Given the description of an element on the screen output the (x, y) to click on. 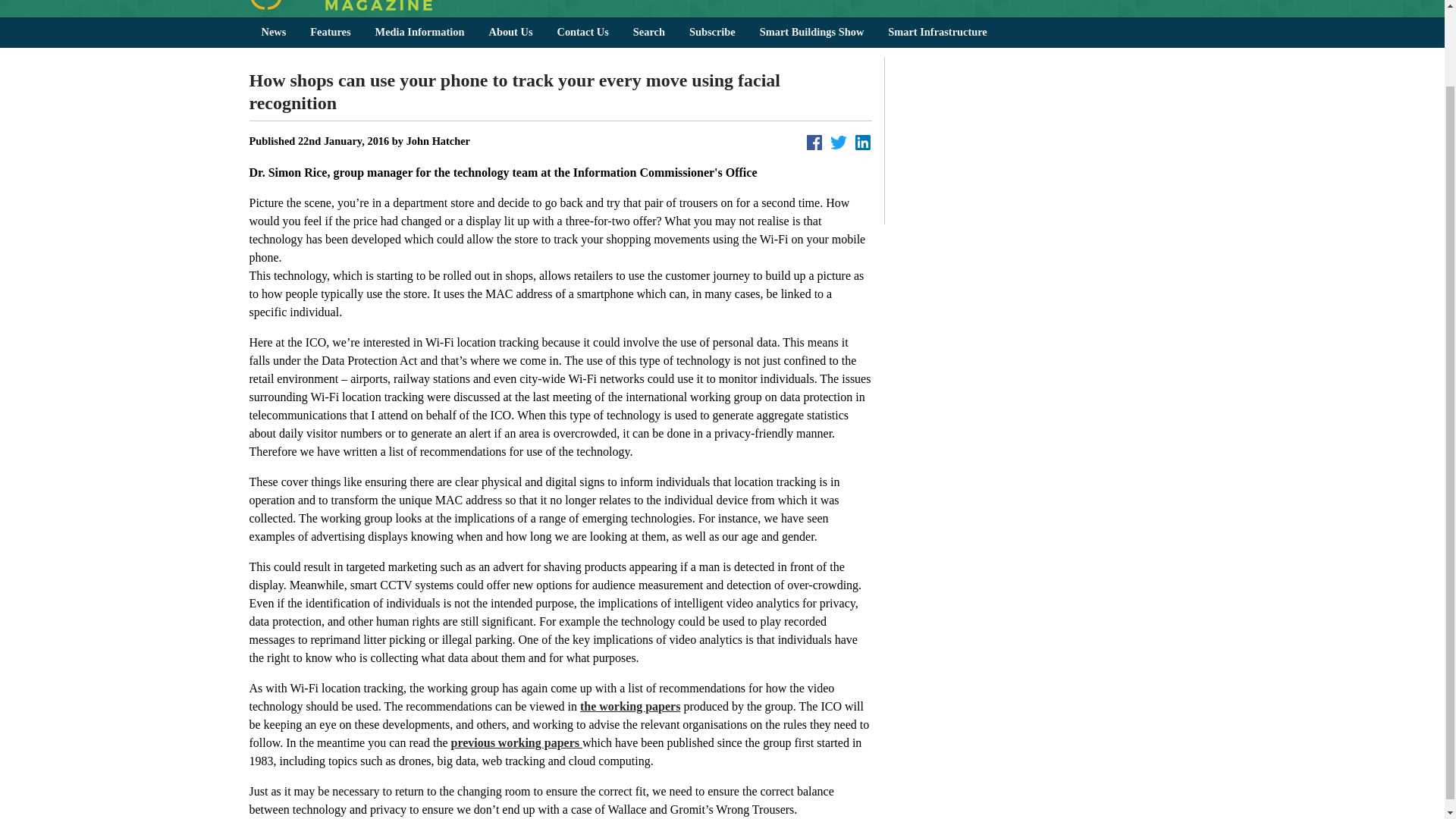
Share on LinkedIn (862, 141)
Subscribe (712, 32)
Smart Buildings Show 2022 Highlights (1045, 140)
Share on Twitter (838, 141)
Media Information (419, 32)
Share on Facebook (814, 141)
Features (330, 32)
Smart Buildings Show (812, 32)
News (273, 32)
Search (649, 32)
